Given the description of an element on the screen output the (x, y) to click on. 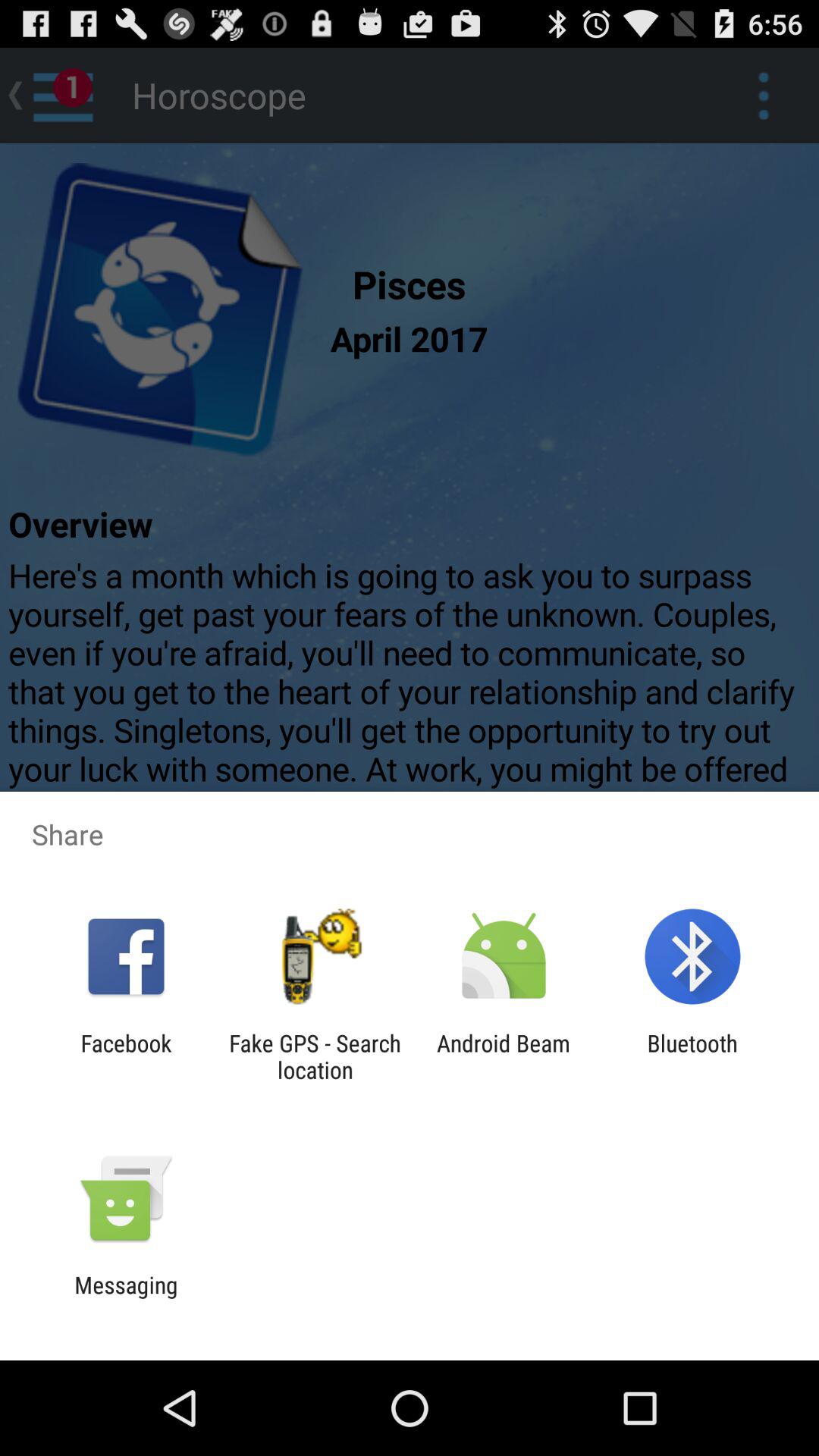
open the app next to the android beam app (314, 1056)
